Given the description of an element on the screen output the (x, y) to click on. 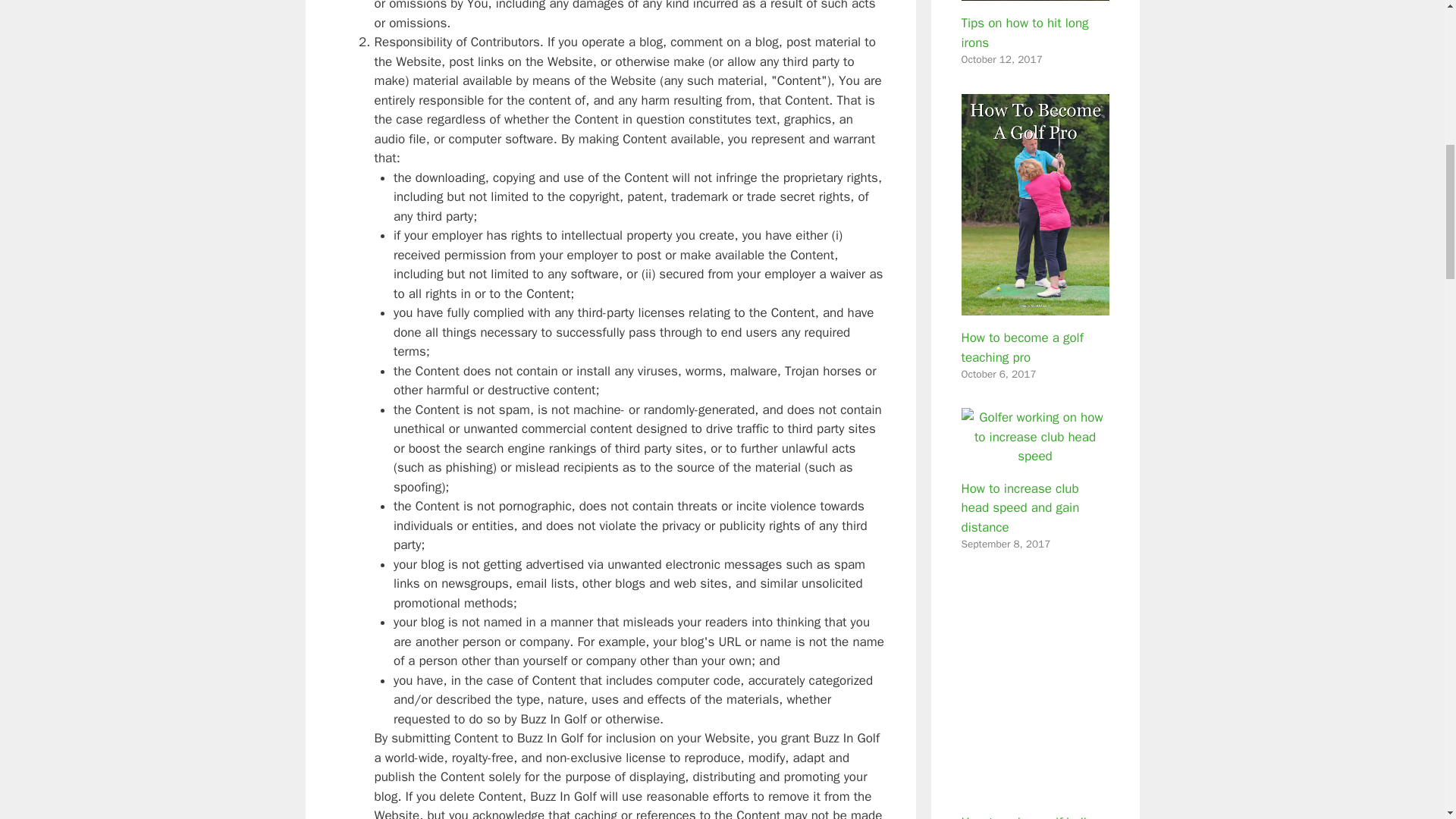
How to become a golf teaching pro (1021, 347)
1:34 pm (998, 373)
10:38 am (1001, 59)
How to spin a golf ball and control it (1034, 790)
How to become a golf teaching pro (1034, 304)
October 6, 2017 (998, 373)
How to increase club head speed and gain distance (1020, 507)
How to spin a golf ball and control it (1023, 816)
How to increase club head speed and gain distance (1034, 455)
October 12, 2017 (1001, 59)
